Given the description of an element on the screen output the (x, y) to click on. 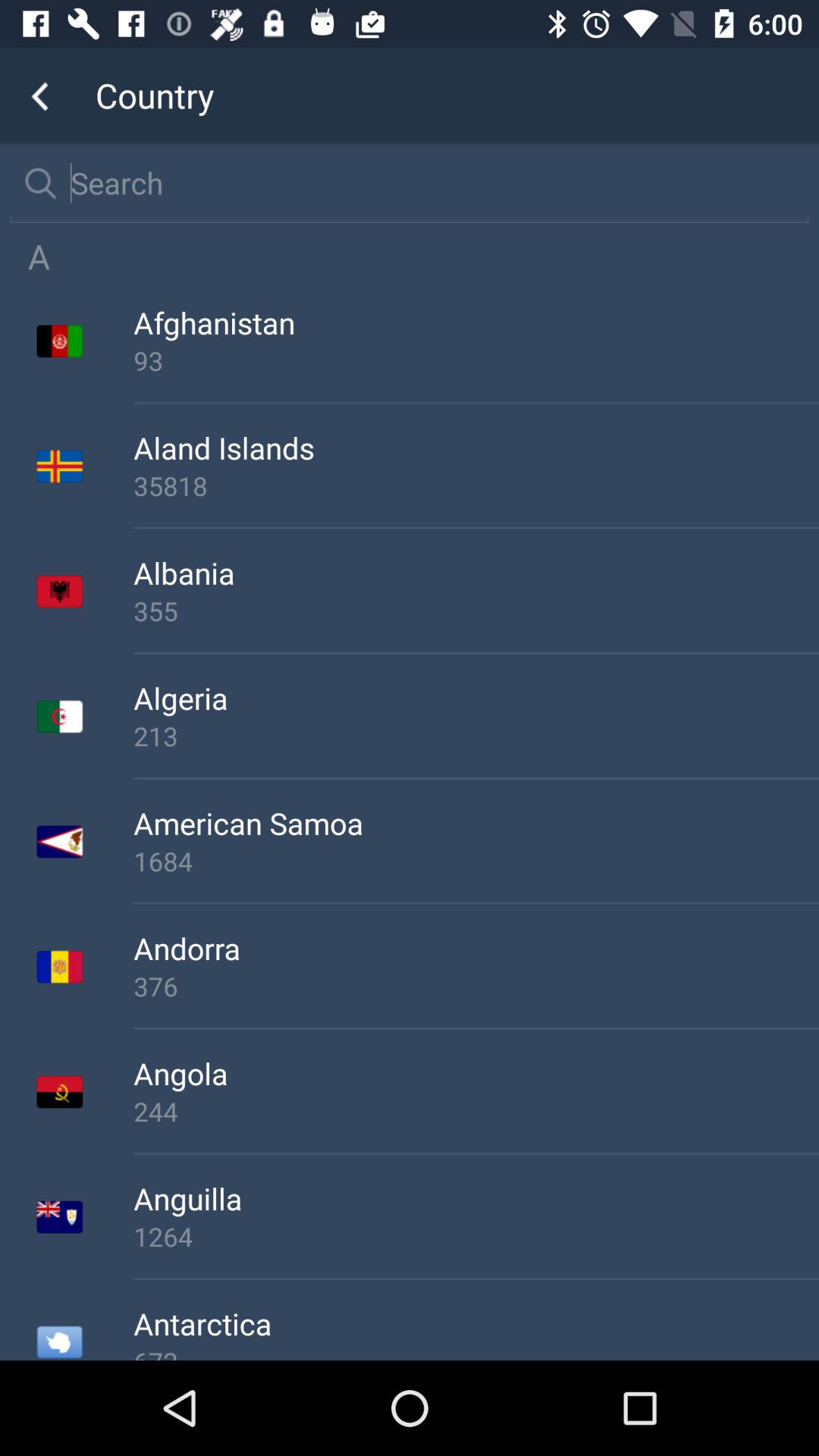
swipe to 244 icon (476, 1110)
